Given the description of an element on the screen output the (x, y) to click on. 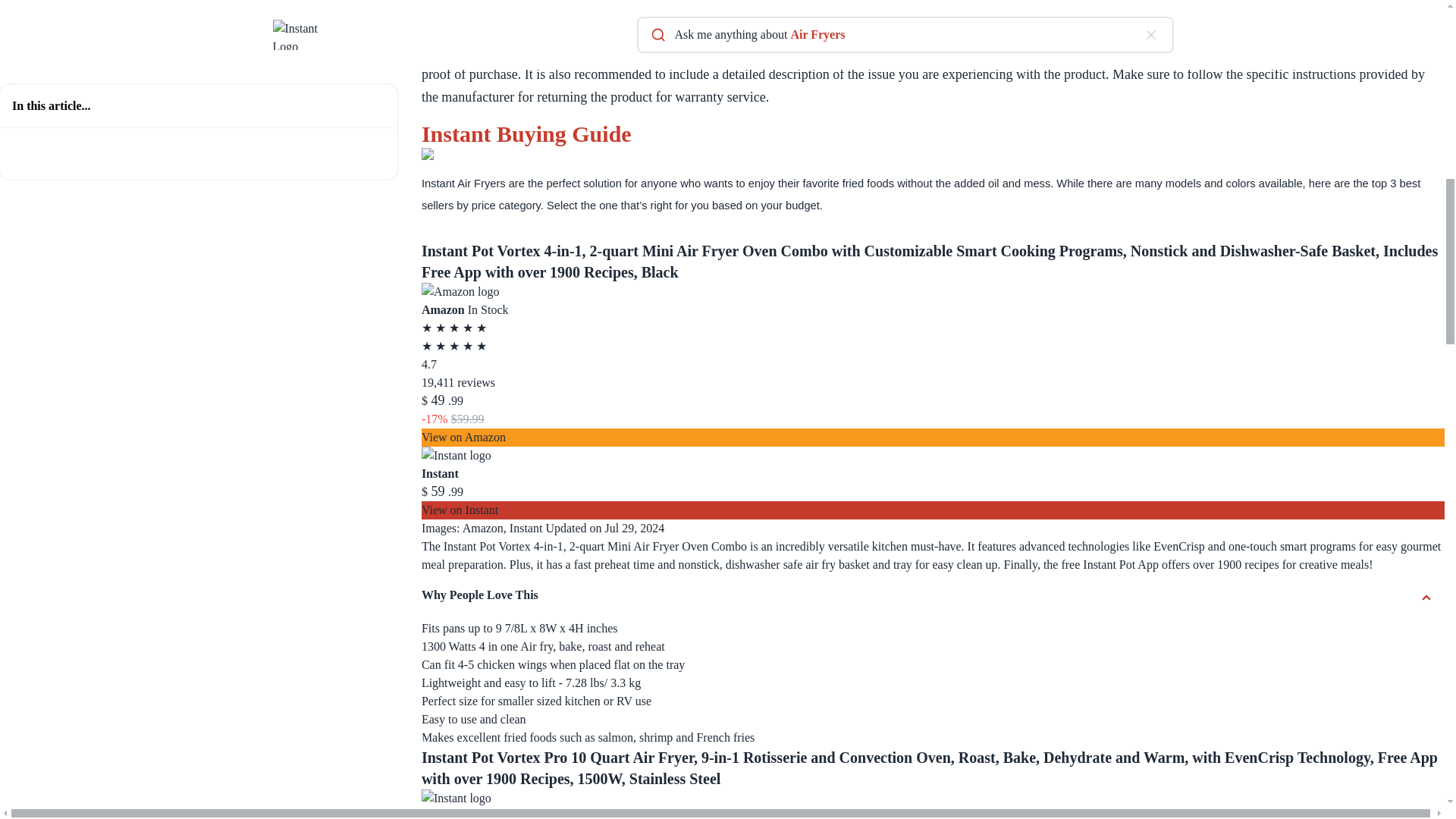
Shop (485, 8)
Shop (692, 8)
